Given the description of an element on the screen output the (x, y) to click on. 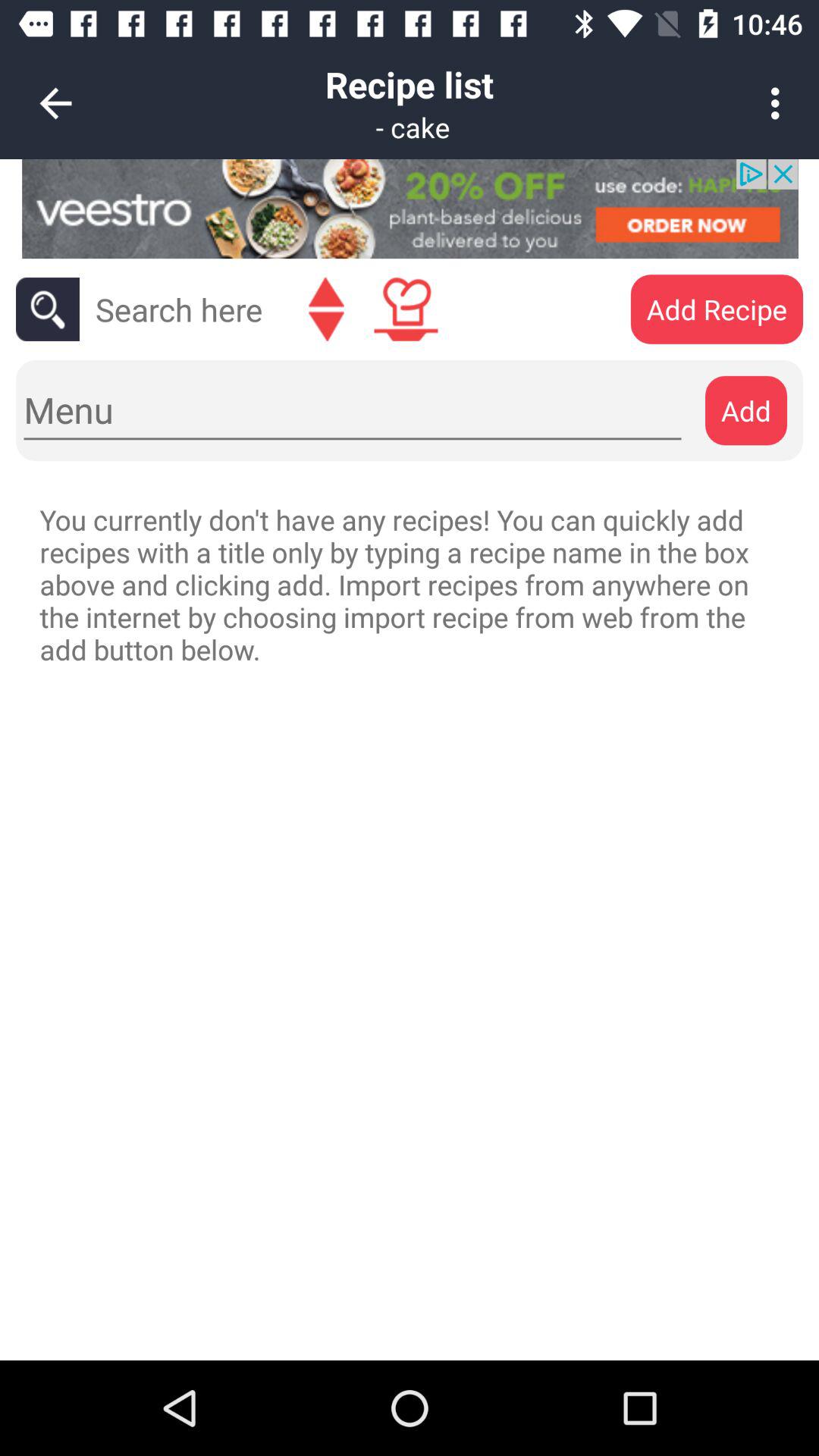
search box (178, 309)
